Given the description of an element on the screen output the (x, y) to click on. 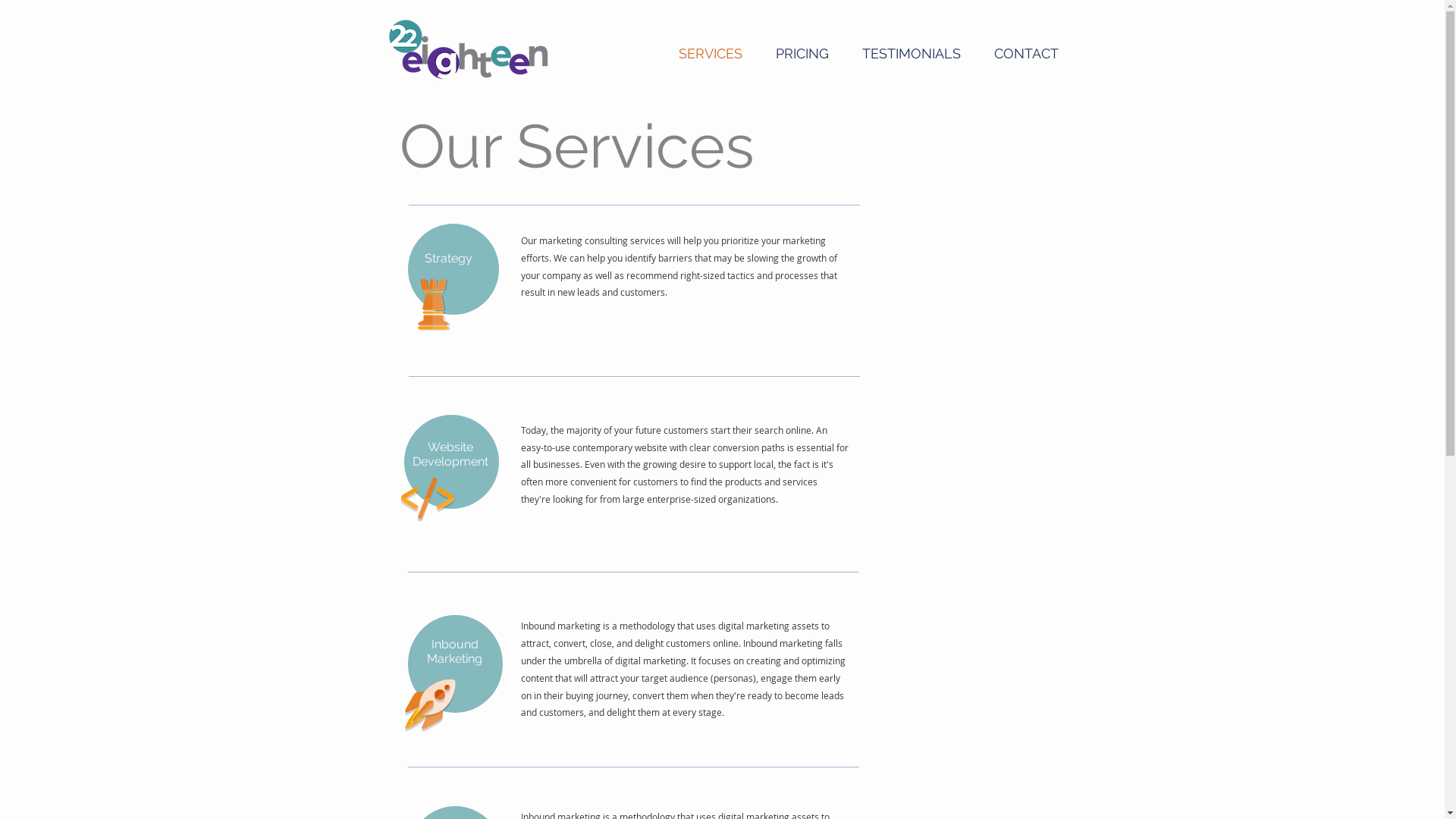
CONTACT Element type: text (1025, 53)
PRICING Element type: text (801, 53)
TESTIMONIALS Element type: text (910, 53)
SERVICES Element type: text (709, 53)
